Given the description of an element on the screen output the (x, y) to click on. 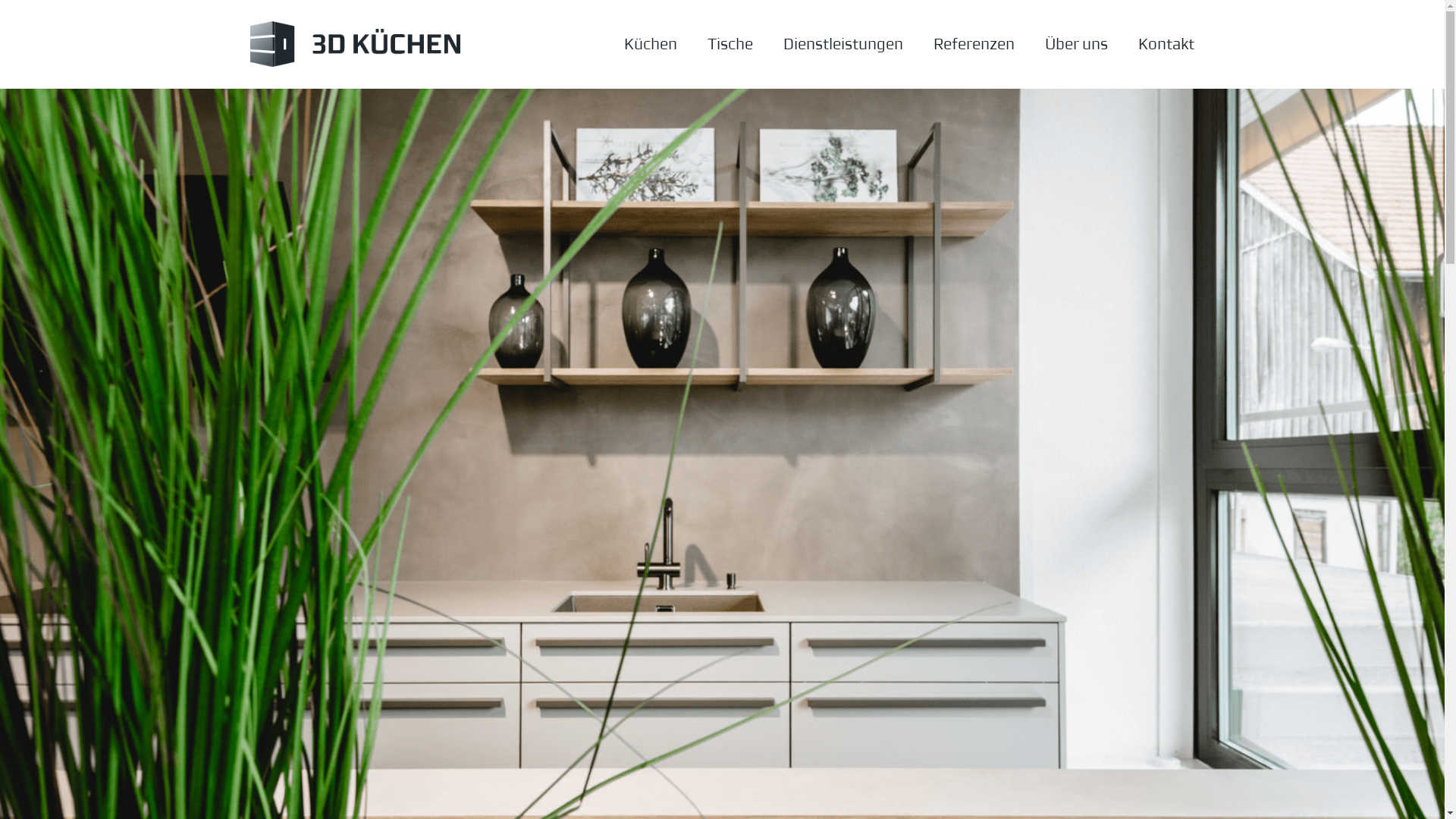
Dienstleistungen Element type: text (843, 43)
Tische Element type: text (730, 43)
Kontakt Element type: text (1158, 43)
Referenzen Element type: text (973, 43)
